Given the description of an element on the screen output the (x, y) to click on. 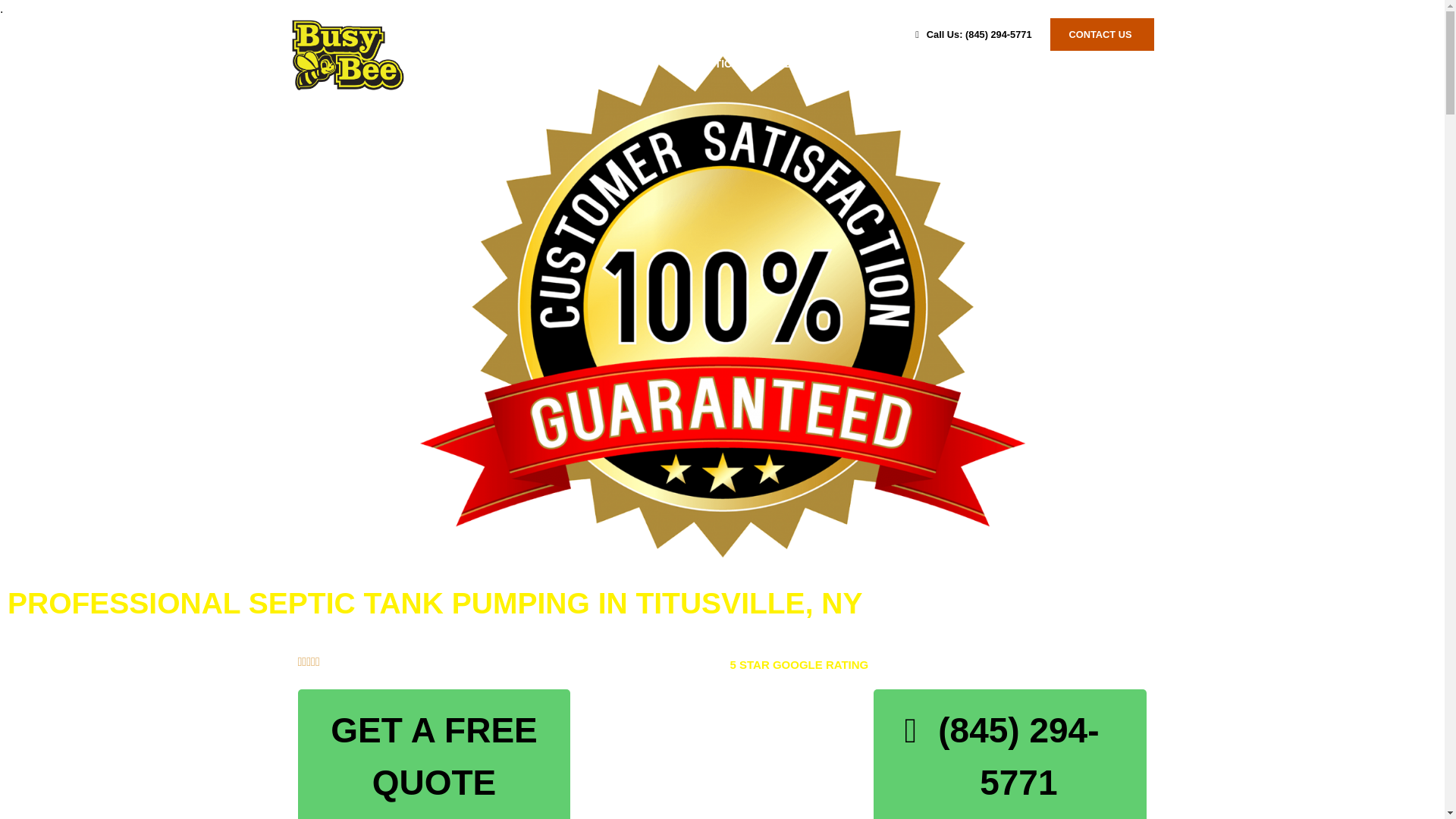
LOCATIONS (1010, 63)
ABOUT US (1114, 63)
COMMERCIAL (898, 63)
SEWER (796, 63)
CONTACT US (1101, 34)
SEPTIC (713, 63)
